Given the description of an element on the screen output the (x, y) to click on. 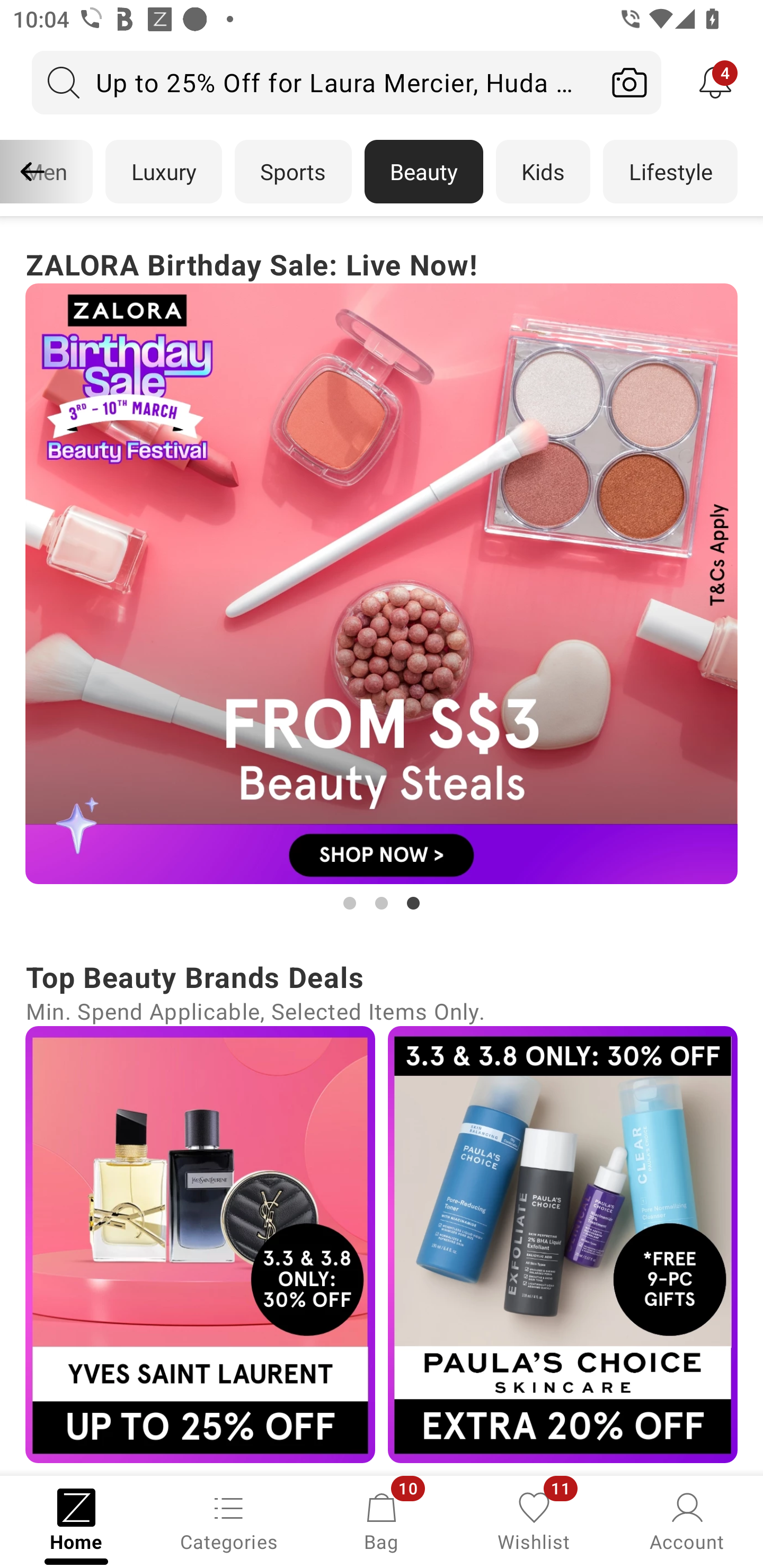
Luxury (163, 171)
Sports (293, 171)
Beauty (423, 171)
Kids (542, 171)
Lifestyle (669, 171)
ZALORA Birthday Sale: Live Now!  Campaign banner (381, 578)
Campaign banner (381, 583)
Campaign banner (200, 1243)
Campaign banner (562, 1243)
Categories (228, 1519)
Bag, 10 new notifications Bag (381, 1519)
Wishlist, 11 new notifications Wishlist (533, 1519)
Account (686, 1519)
